Given the description of an element on the screen output the (x, y) to click on. 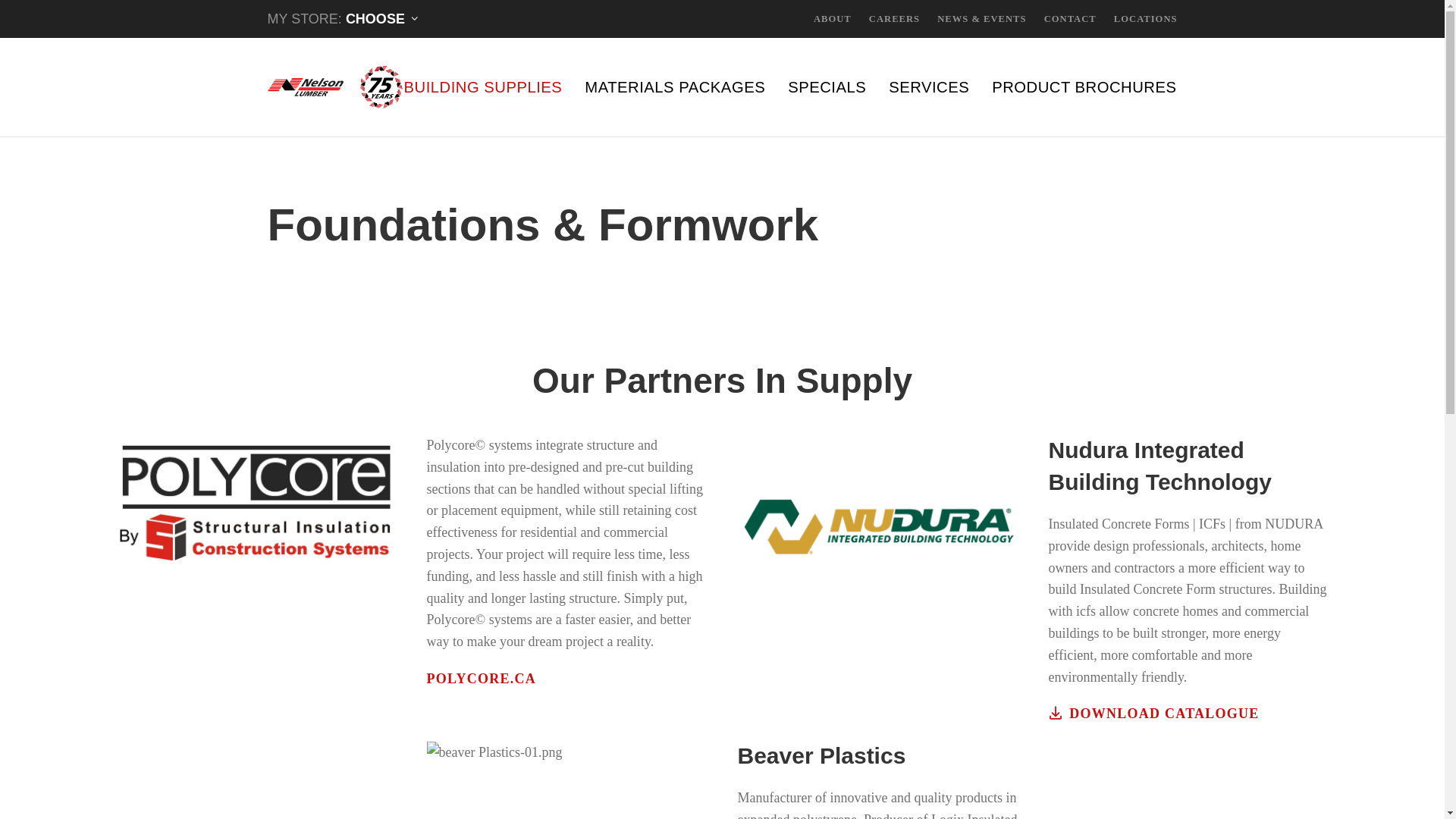
LOCATIONS (1145, 18)
CONTACT (1069, 18)
MATERIALS PACKAGES (674, 86)
ABOUT (832, 18)
CAREERS (894, 18)
BUILDING SUPPLIES (483, 86)
